Given the description of an element on the screen output the (x, y) to click on. 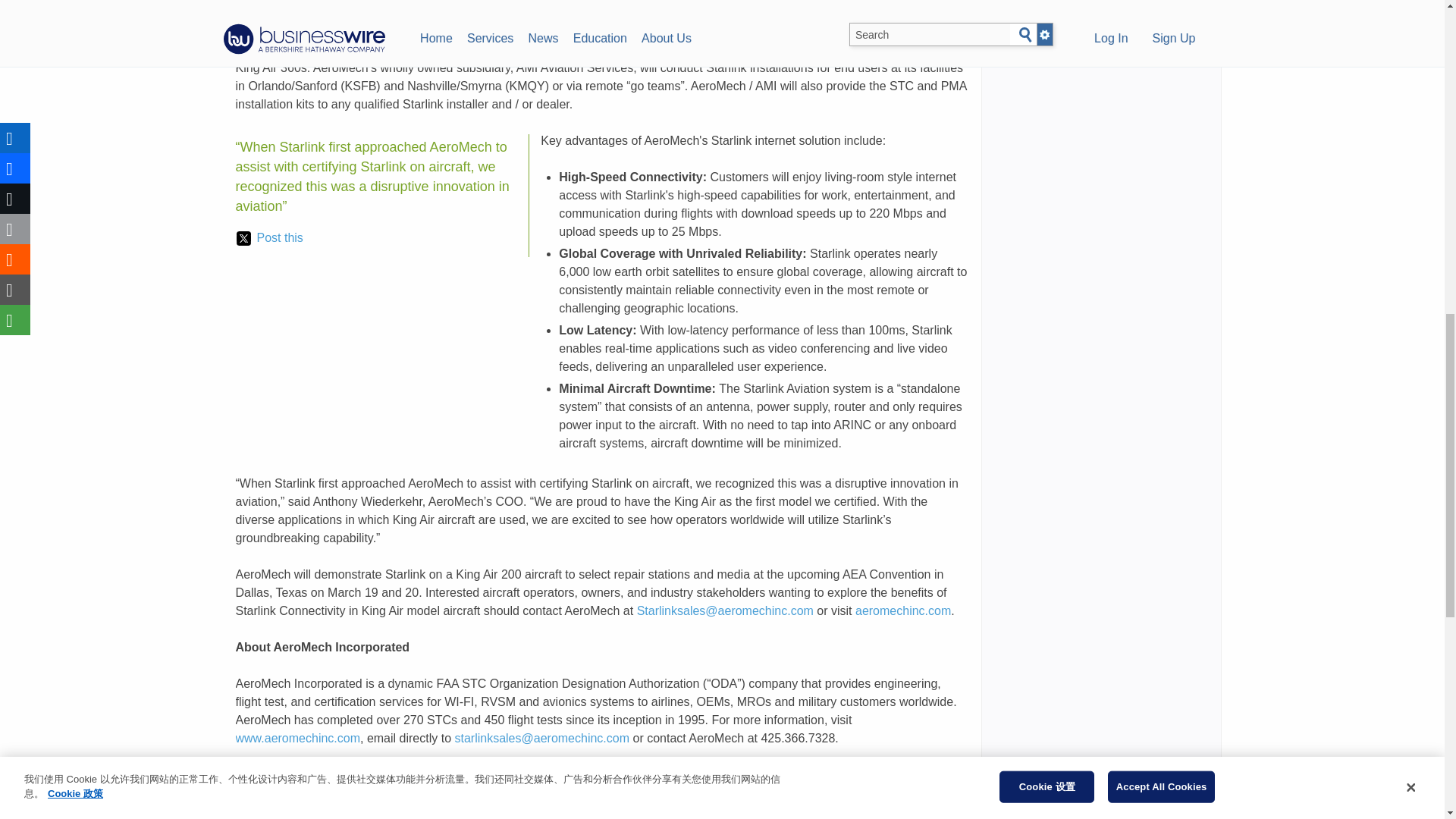
www.aeromechinc.com (647, 12)
aeromechinc.com (903, 610)
Post this (269, 237)
BUSINESS WIRE (390, 12)
www.aeromechinc.com (296, 738)
